Given the description of an element on the screen output the (x, y) to click on. 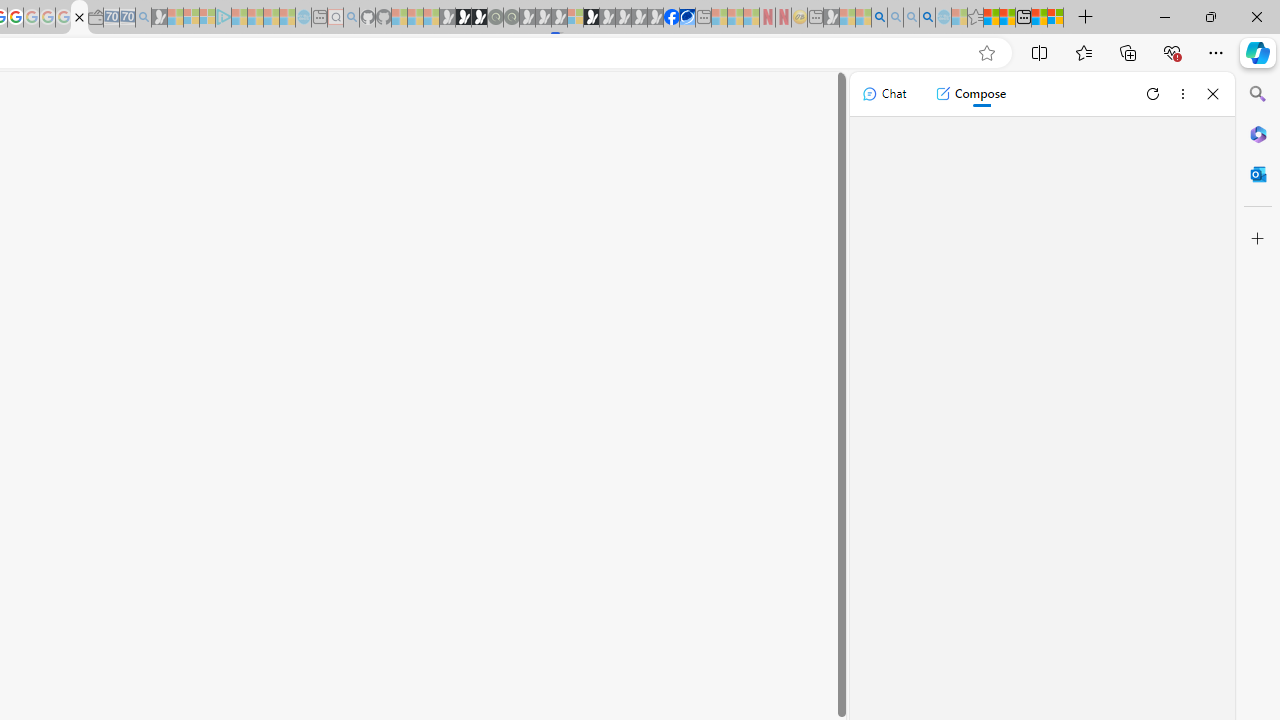
Chat (884, 93)
Bing AI - Search (879, 17)
Aberdeen, Hong Kong SAR weather forecast | Microsoft Weather (1007, 17)
Compose (970, 93)
